Given the description of an element on the screen output the (x, y) to click on. 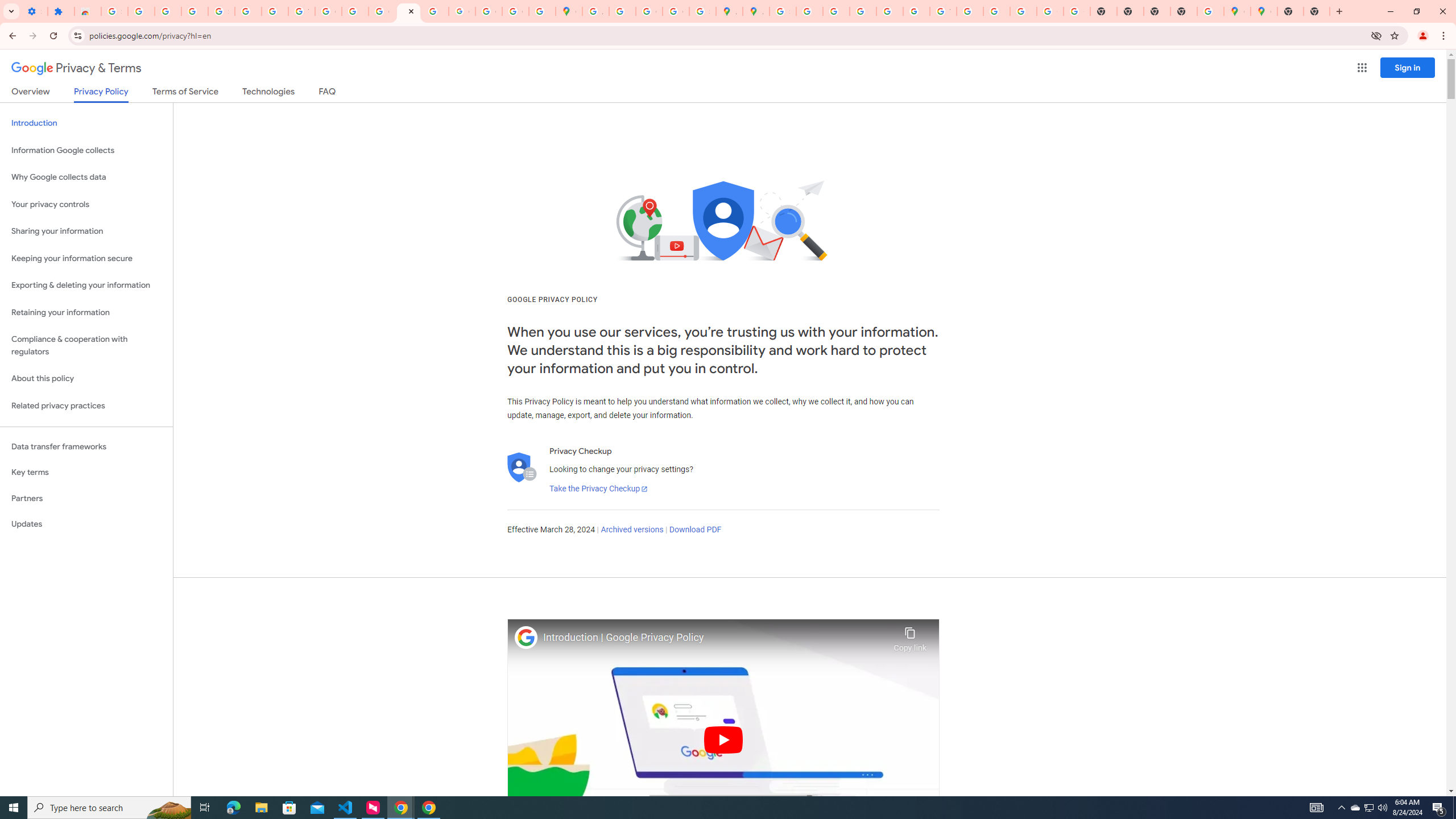
FAQ (327, 93)
Settings - On startup (34, 11)
Browse Chrome as a guest - Computer - Google Chrome Help (970, 11)
New Tab (1183, 11)
Privacy Help Center - Policies Help (862, 11)
Key terms (86, 472)
Privacy & Terms (76, 68)
Forward (32, 35)
Back (10, 35)
Third-party cookies blocked (1376, 35)
Delete photos & videos - Computer - Google Photos Help (141, 11)
Technologies (268, 93)
Google Maps (1236, 11)
